Given the description of an element on the screen output the (x, y) to click on. 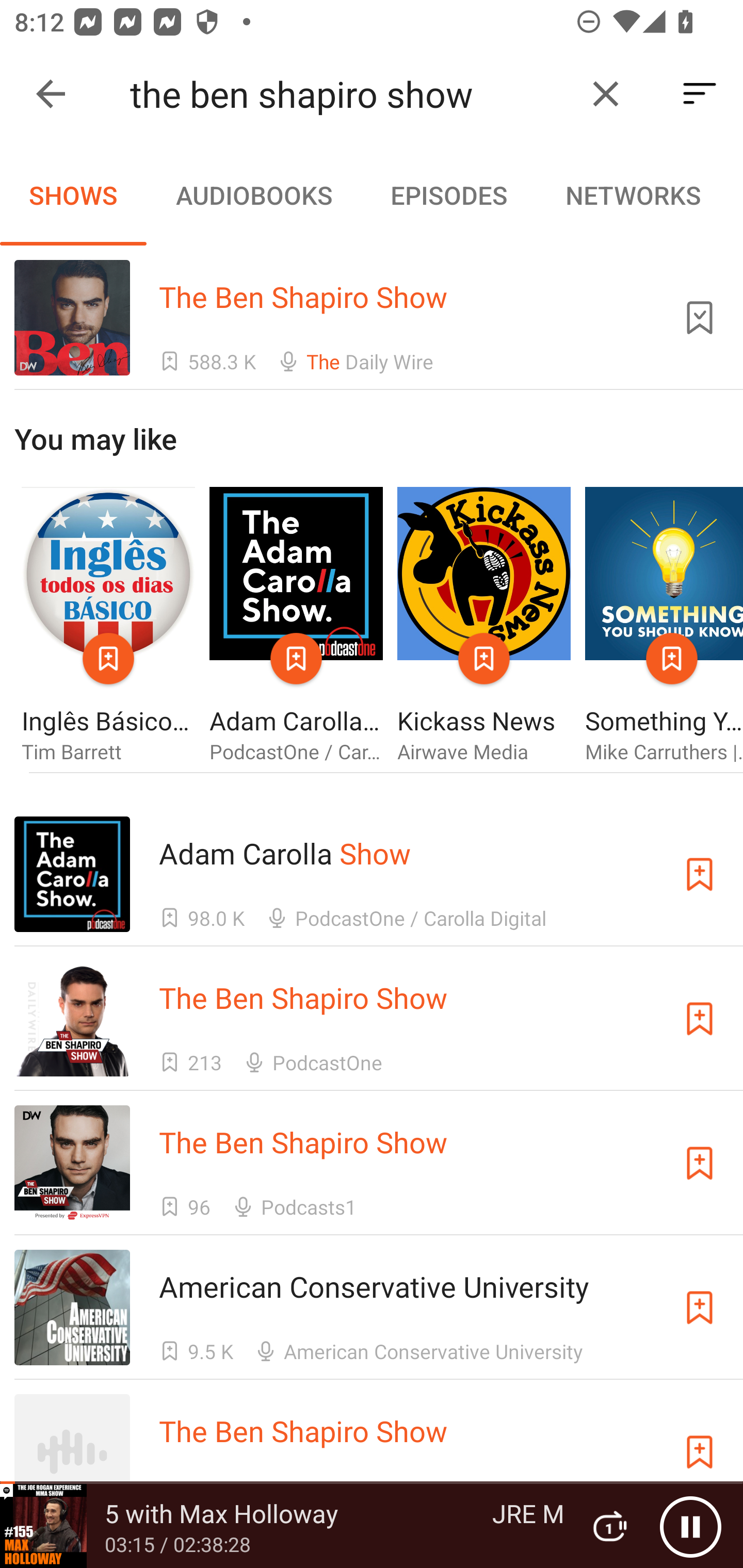
Collapse (50, 93)
Clear query (605, 93)
Sort By (699, 93)
the ben shapiro show (349, 94)
SHOWS (73, 195)
AUDIOBOOKS (253, 195)
EPISODES (448, 195)
NETWORKS (632, 195)
Unsubscribe (699, 317)
Inglês Básico Todos os Dias Tim Barrett (107, 626)
Adam Carolla Show PodcastOne / Carolla Digital (295, 626)
Kickass News Airwave Media (483, 626)
